Given the description of an element on the screen output the (x, y) to click on. 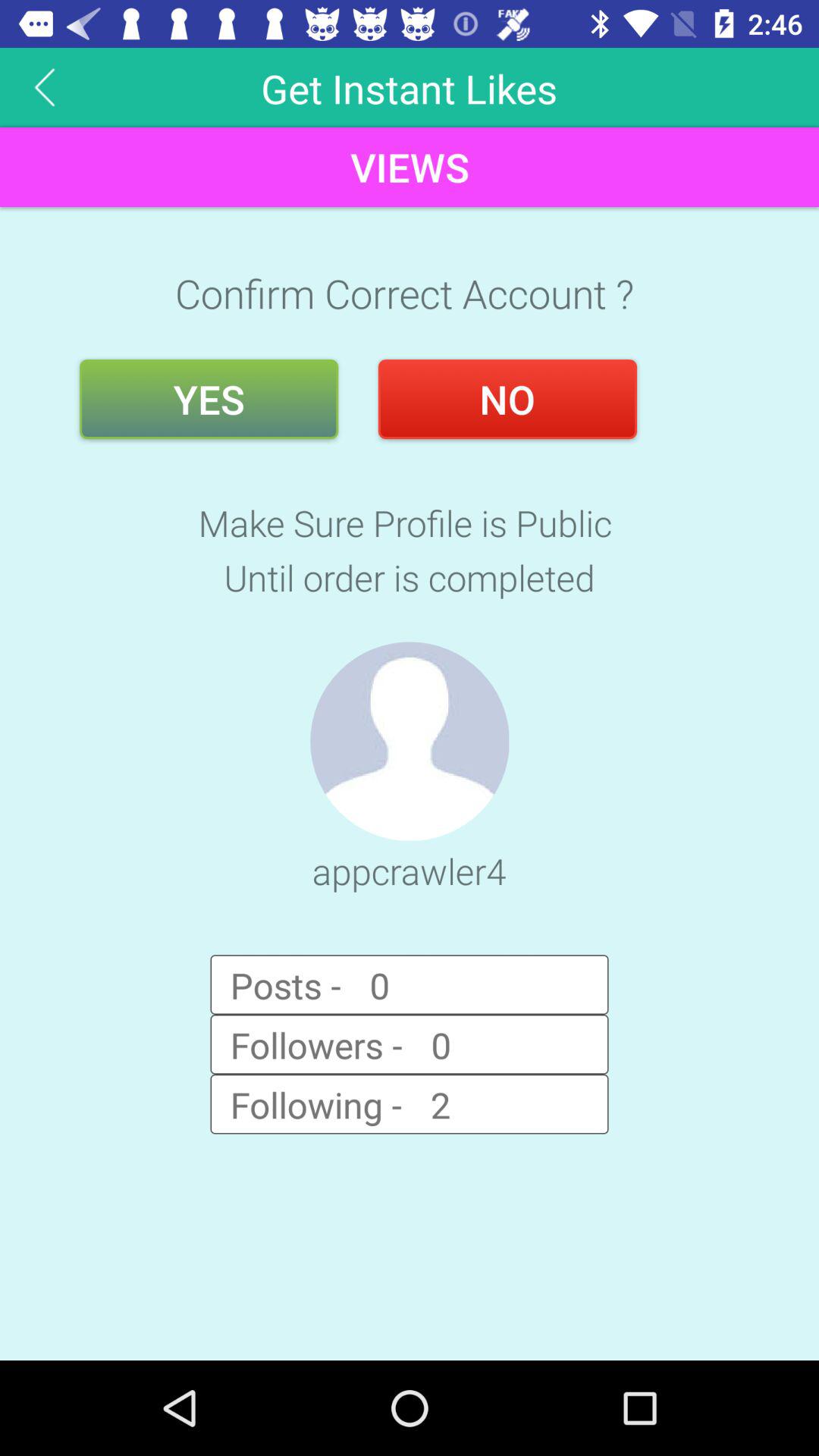
turn on the icon to the left of the no (208, 399)
